Given the description of an element on the screen output the (x, y) to click on. 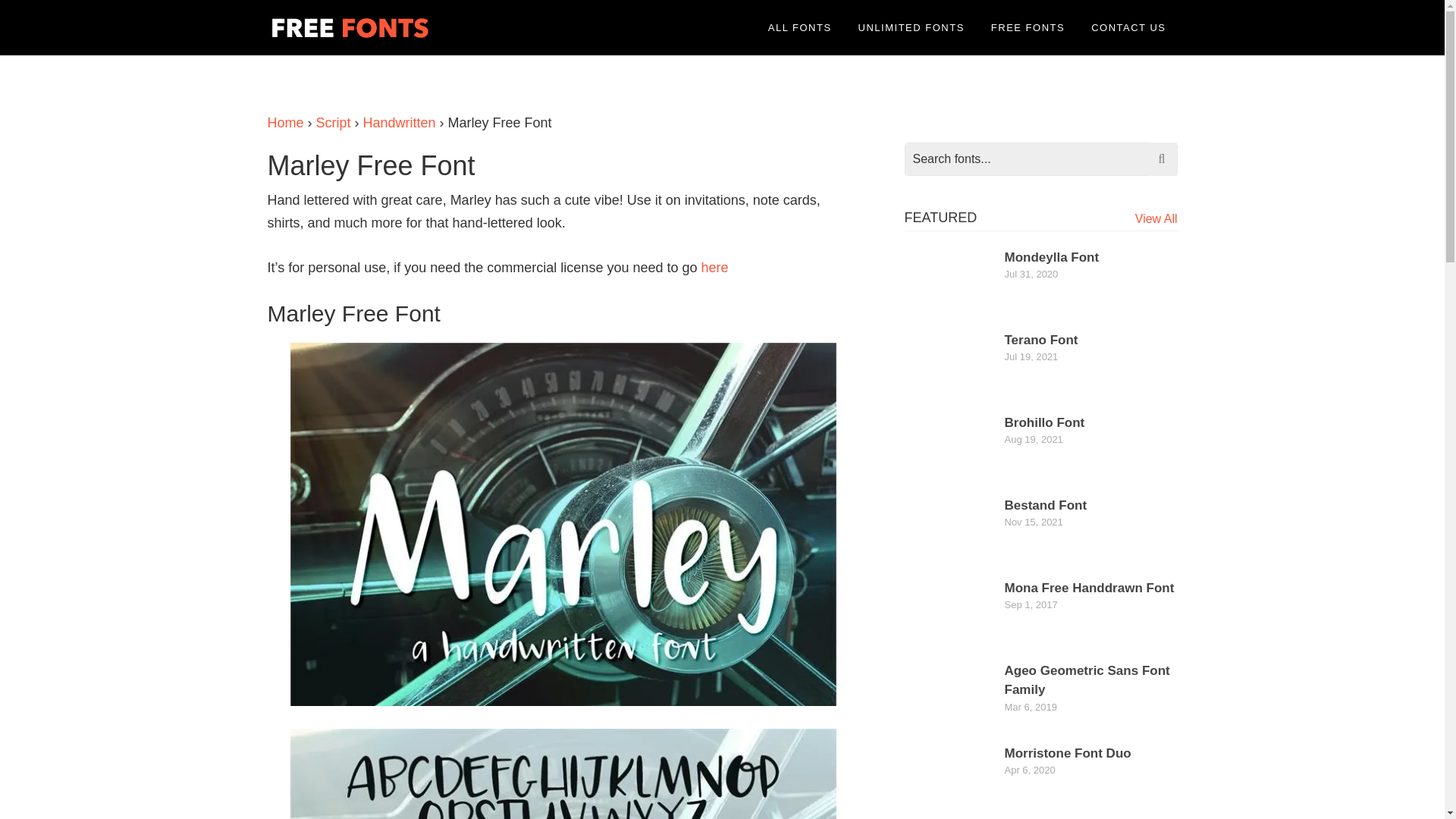
ALL FONTS (800, 27)
Mondeylla Font (1051, 257)
UNLIMITED FONTS (911, 27)
Home (284, 122)
here (714, 267)
View All (1156, 218)
Script (332, 122)
CONTACT US (1128, 27)
Terano Font (1040, 339)
Handwritten (398, 122)
FREE FONTS (1027, 27)
